Given the description of an element on the screen output the (x, y) to click on. 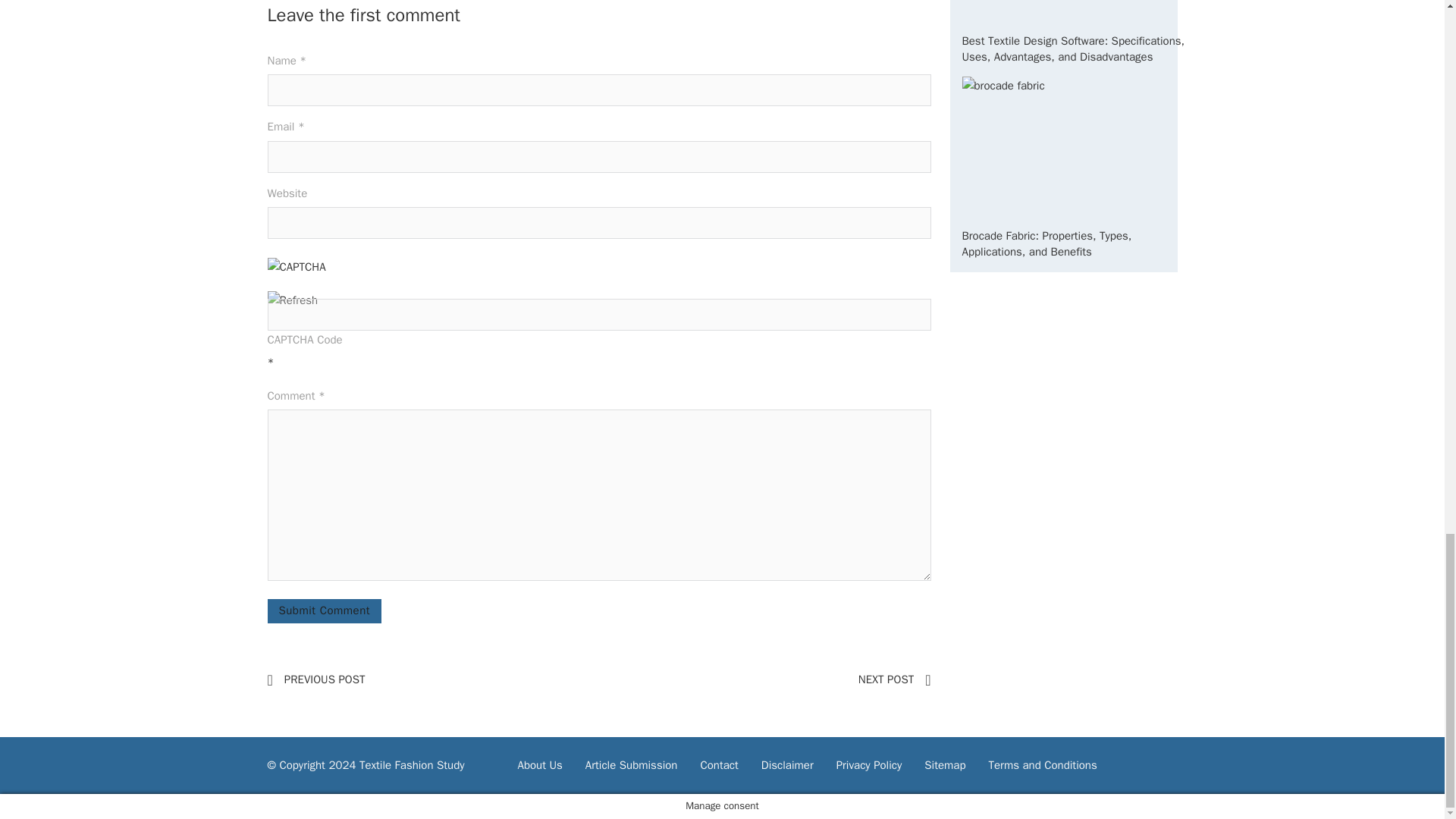
Refresh (291, 300)
CAPTCHA (316, 273)
Submit Comment (323, 610)
